Given the description of an element on the screen output the (x, y) to click on. 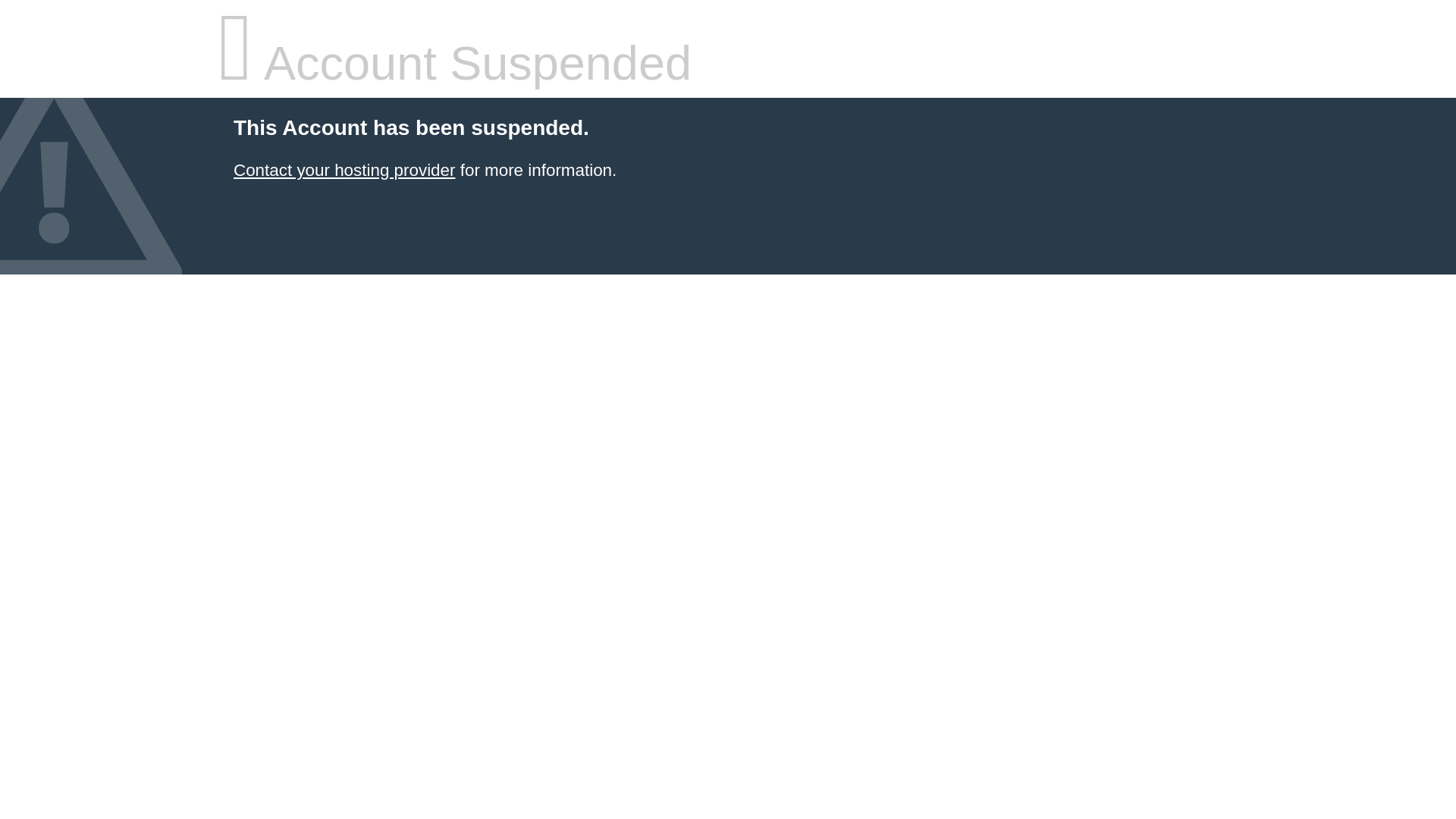
Contact your hosting provider (343, 169)
